Given the description of an element on the screen output the (x, y) to click on. 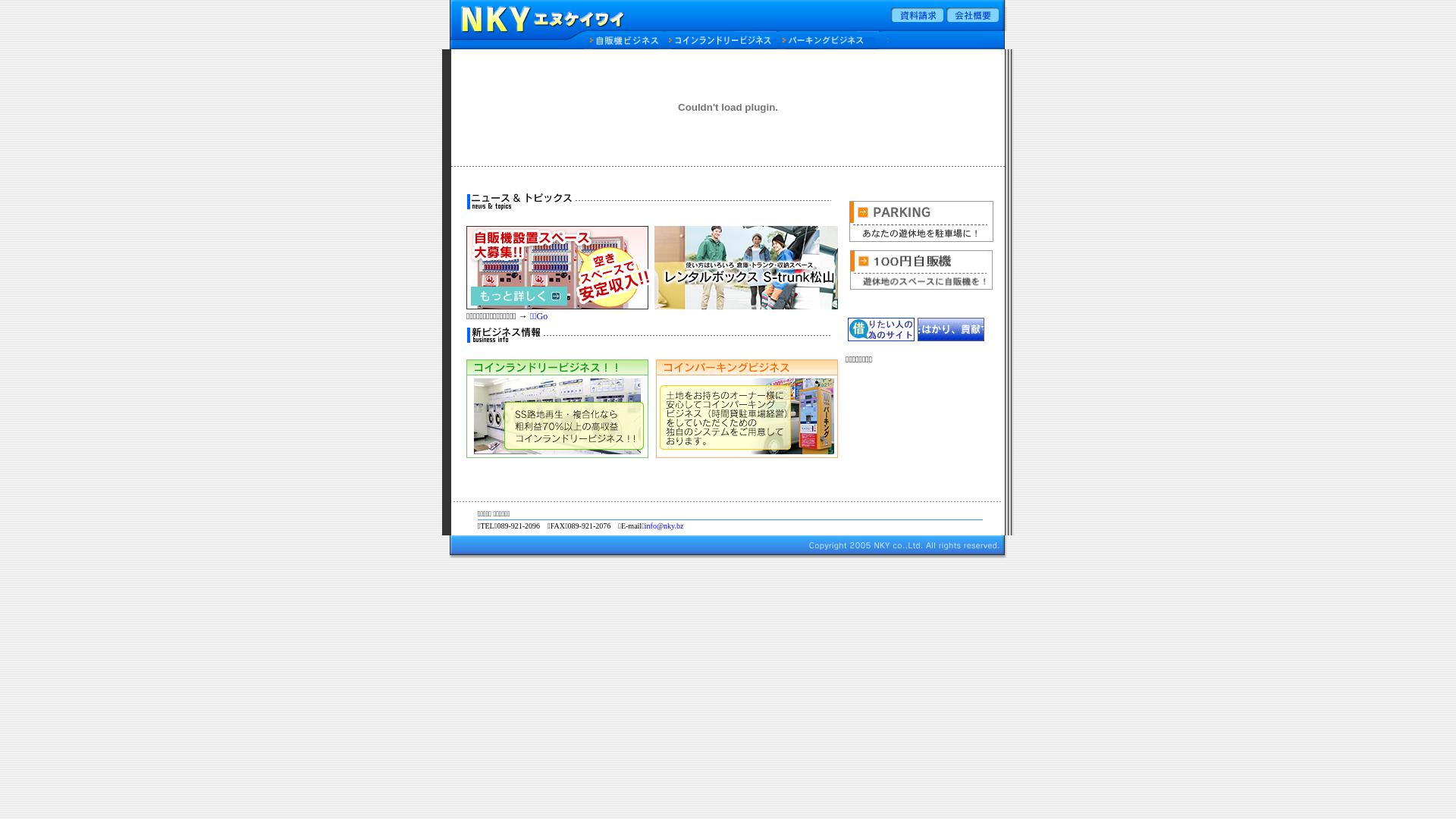
info@nky.bz Element type: text (664, 525)
